Given the description of an element on the screen output the (x, y) to click on. 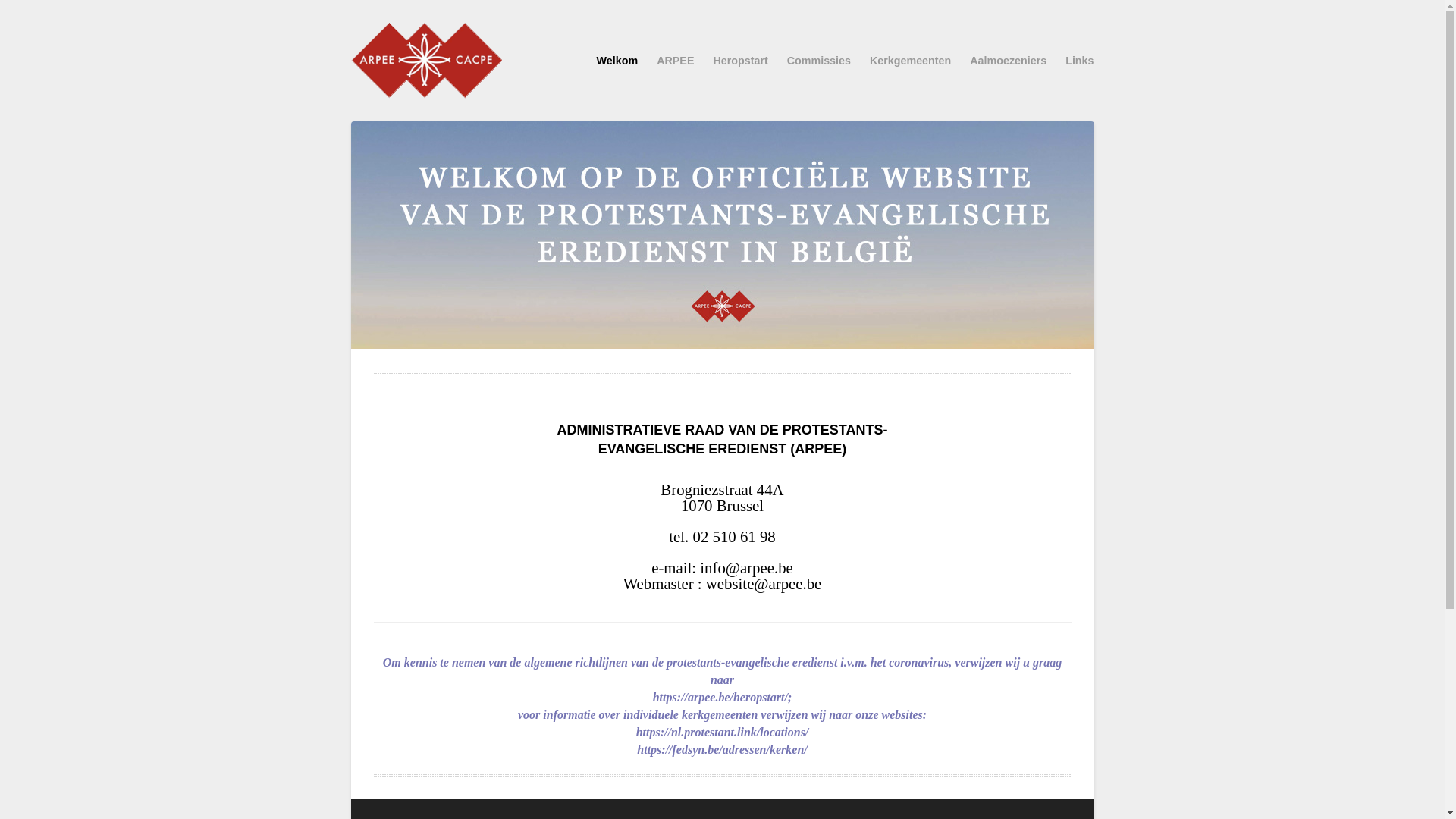
Heropstart Element type: text (739, 60)
https://arpee.be/heropstart/ Element type: text (719, 696)
Welkom Element type: text (617, 60)
ARPEE Element type: text (674, 60)
https://nl.protestant.link/locations/ Element type: text (722, 731)
https://fedsyn.be/adressen/kerken/ Element type: text (721, 749)
Aalmoezeniers Element type: text (1007, 60)
Links Element type: text (1079, 60)
ARPEE Element type: hover (721, 60)
Commissies Element type: text (818, 60)
Kerkgemeenten Element type: text (909, 60)
